Given the description of an element on the screen output the (x, y) to click on. 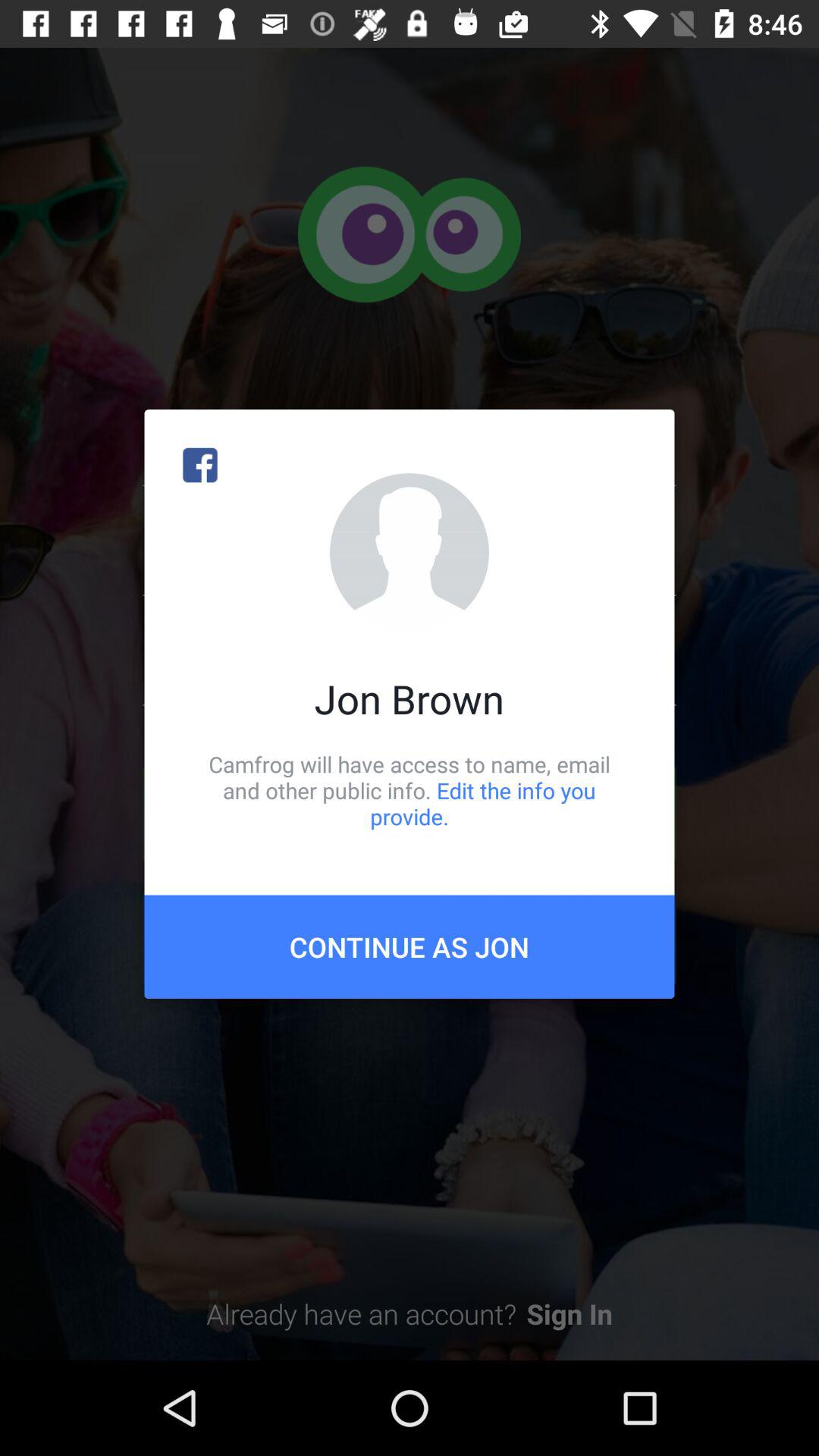
press the icon above the continue as jon (409, 790)
